Given the description of an element on the screen output the (x, y) to click on. 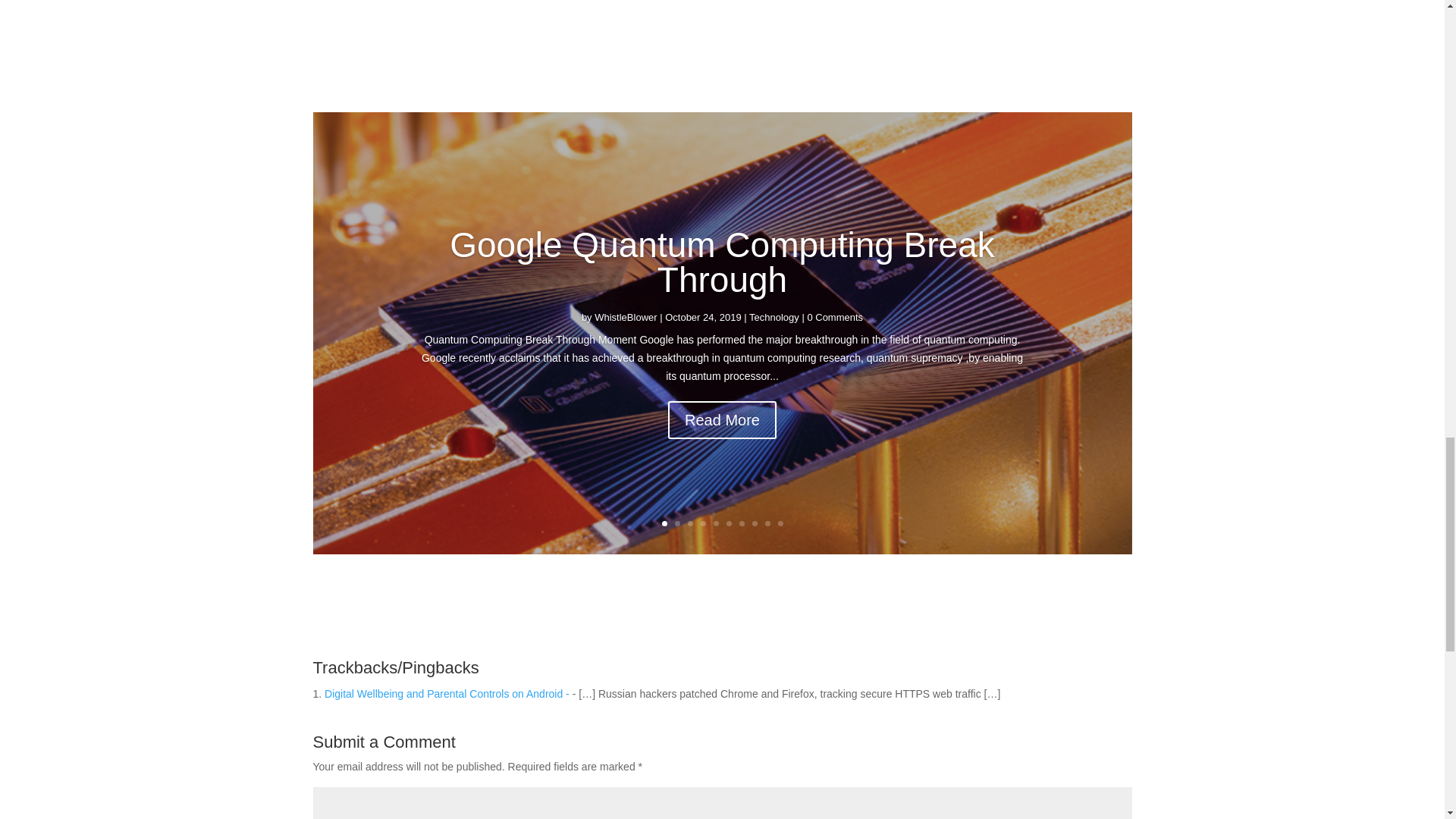
Read More (722, 458)
Google Quantum Computing Break Through (721, 306)
WhistleBlower (625, 360)
Technology (774, 358)
Posts by WhistleBlower (625, 317)
